Given the description of an element on the screen output the (x, y) to click on. 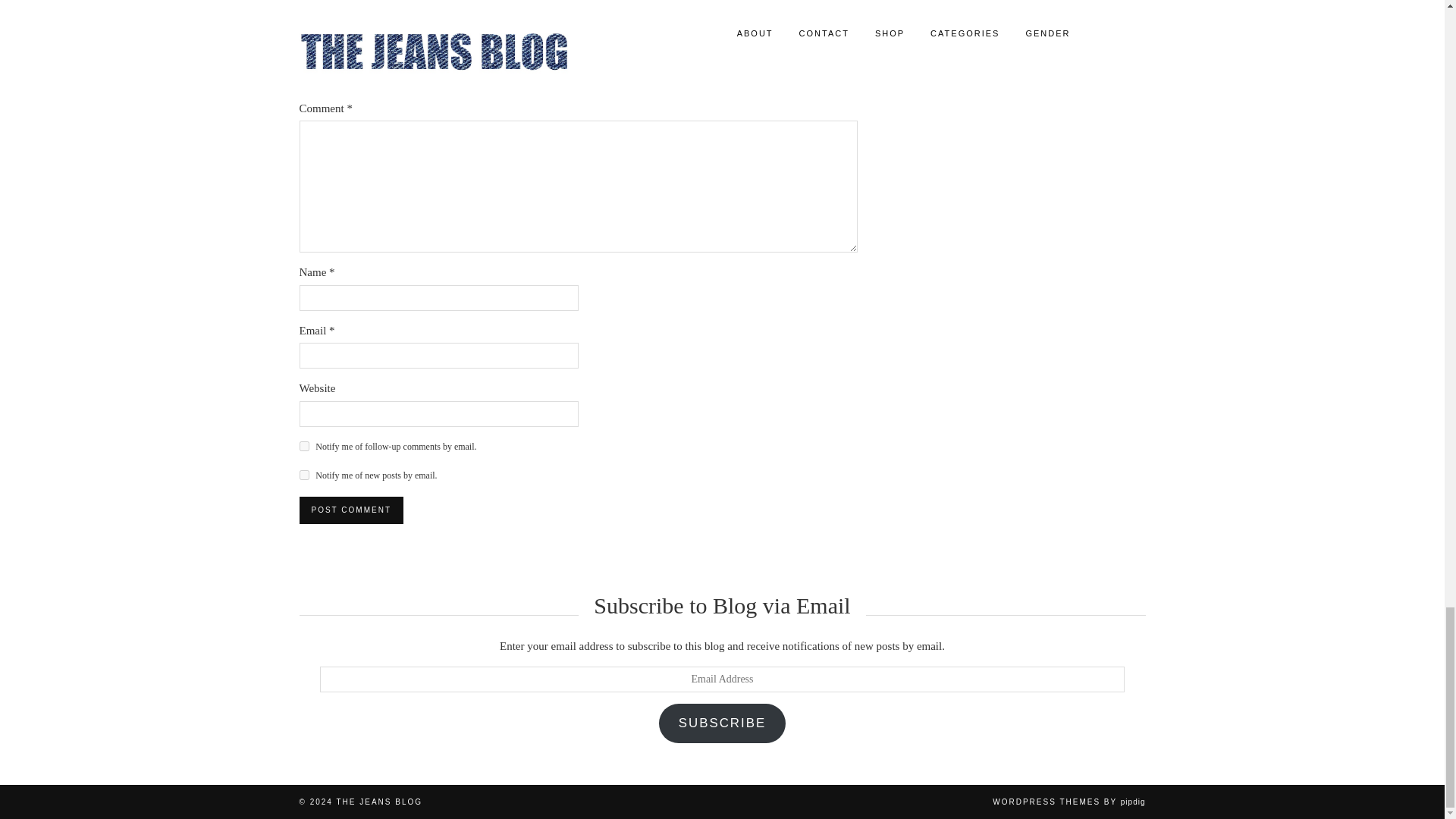
subscribe (303, 446)
subscribe (303, 474)
Post Comment (350, 510)
